Given the description of an element on the screen output the (x, y) to click on. 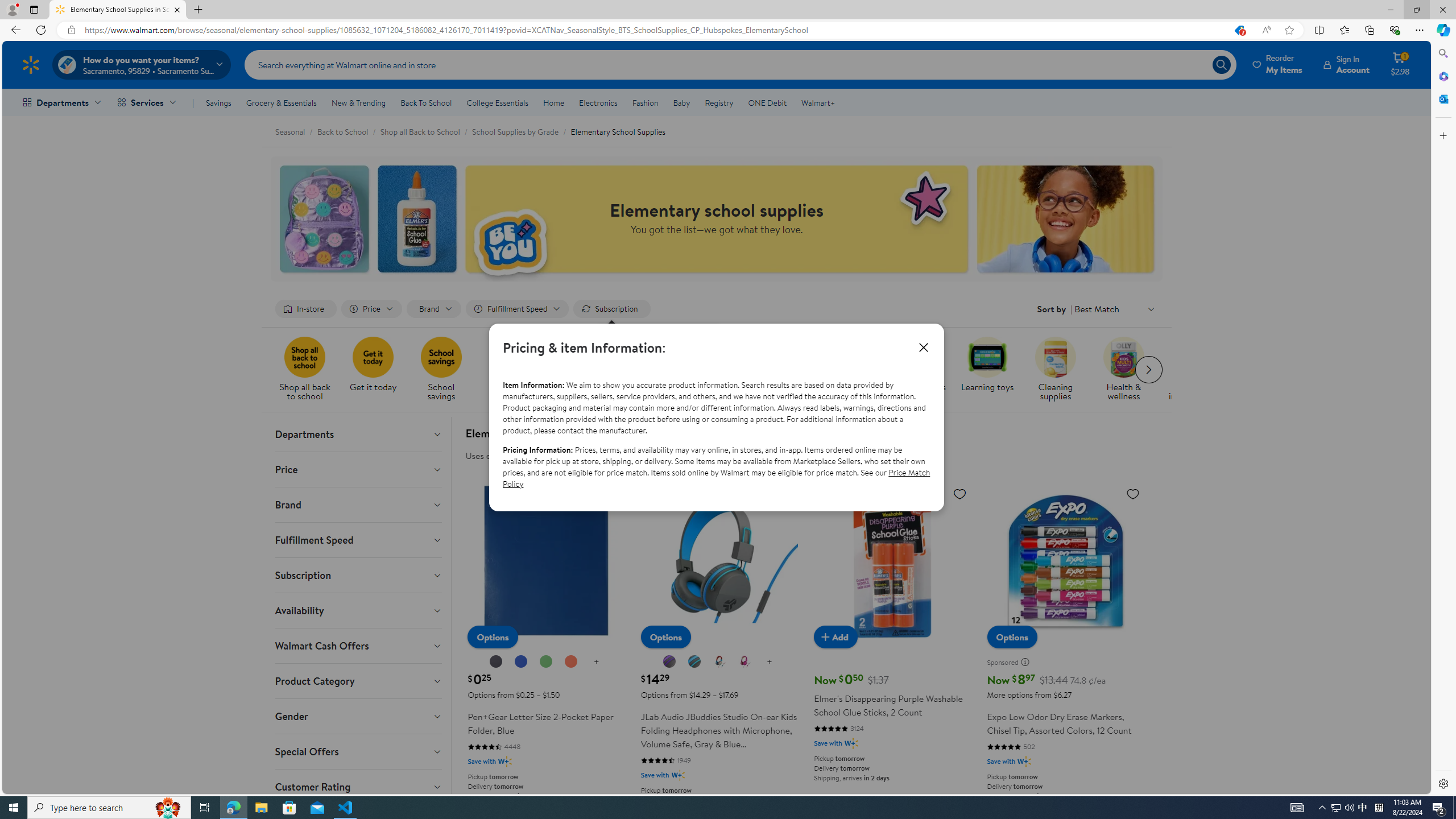
This site has coupons! Shopping in Microsoft Edge, 7 (1239, 29)
